Given the description of an element on the screen output the (x, y) to click on. 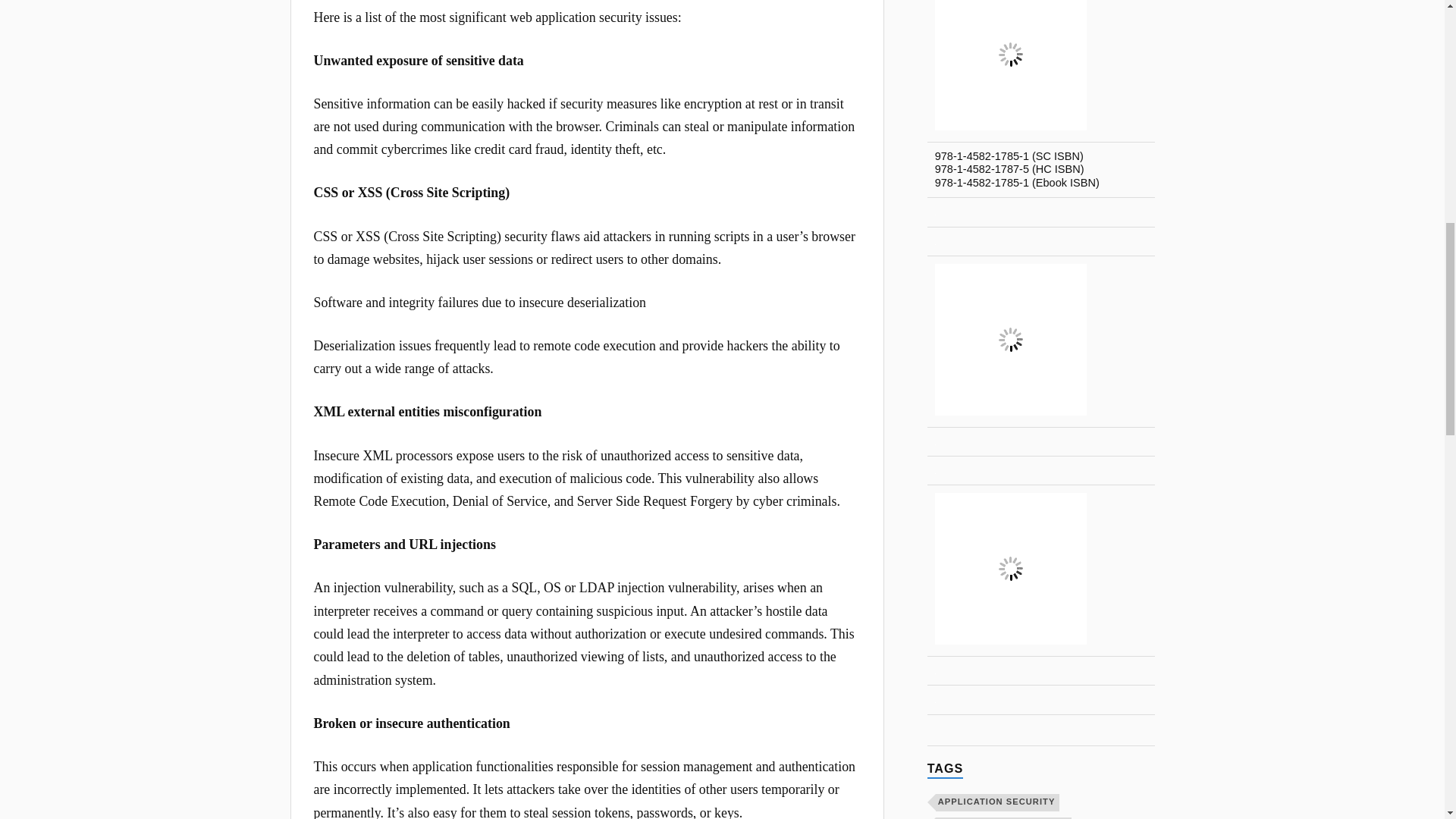
ARTIFICIAL INTELLIGENCE (1003, 818)
APPLICATION SECURITY (997, 801)
